Given the description of an element on the screen output the (x, y) to click on. 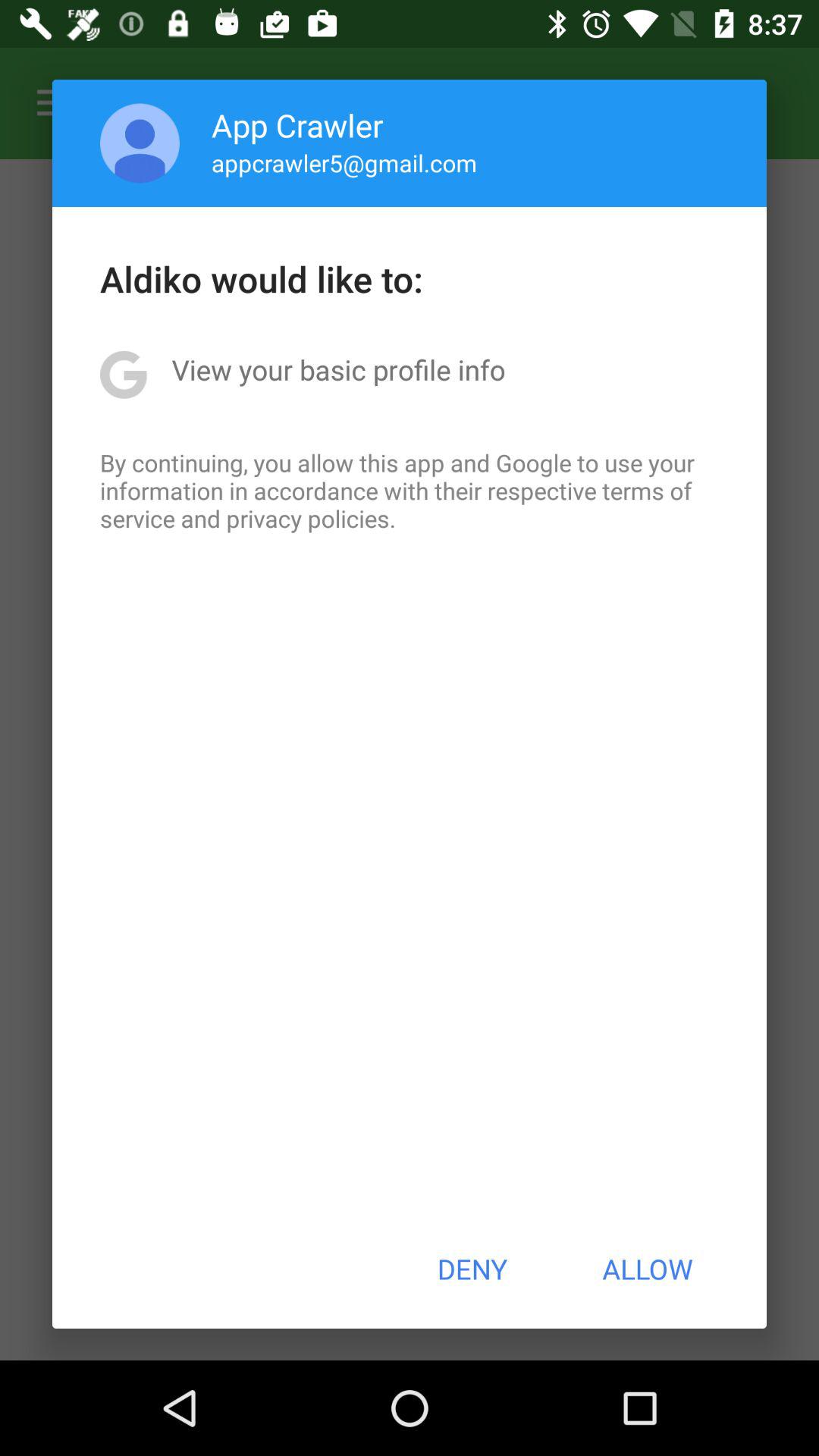
flip to appcrawler5@gmail.com (344, 162)
